Given the description of an element on the screen output the (x, y) to click on. 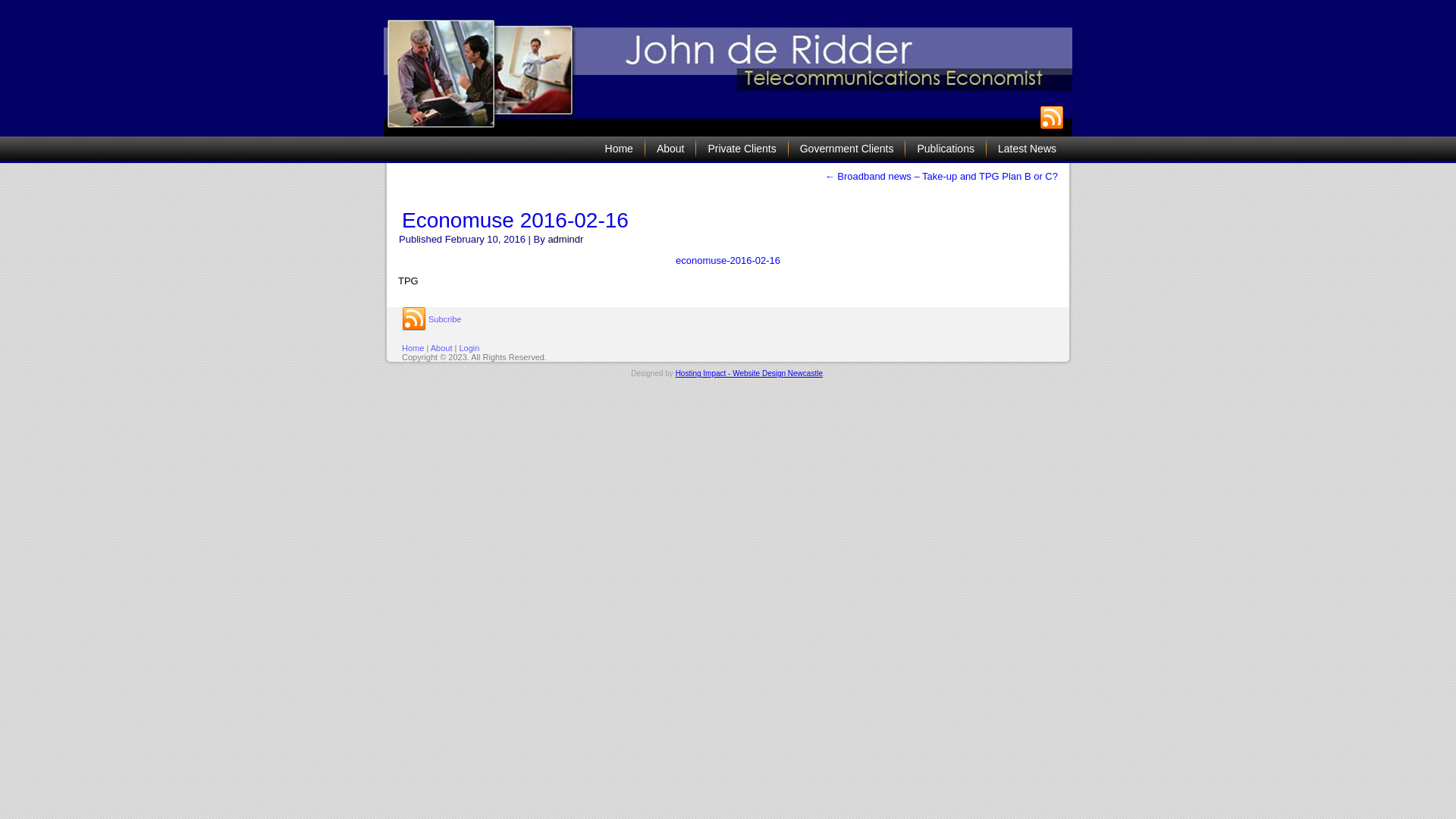
Government Clients Element type: text (846, 148)
Economuse 2016-02-16 Element type: text (514, 220)
Publications Element type: text (945, 148)
Login Element type: text (468, 347)
Hosting Impact - Website Design Newcastle Element type: text (748, 373)
Private Clients Element type: text (741, 148)
Home Element type: text (619, 148)
About Element type: text (670, 148)
Latest News Element type: text (1027, 148)
Subcribe Element type: text (431, 319)
economuse-2016-02-16 Element type: text (727, 260)
About Element type: text (441, 347)
admindr Element type: text (565, 238)
Home Element type: text (412, 347)
